Given the description of an element on the screen output the (x, y) to click on. 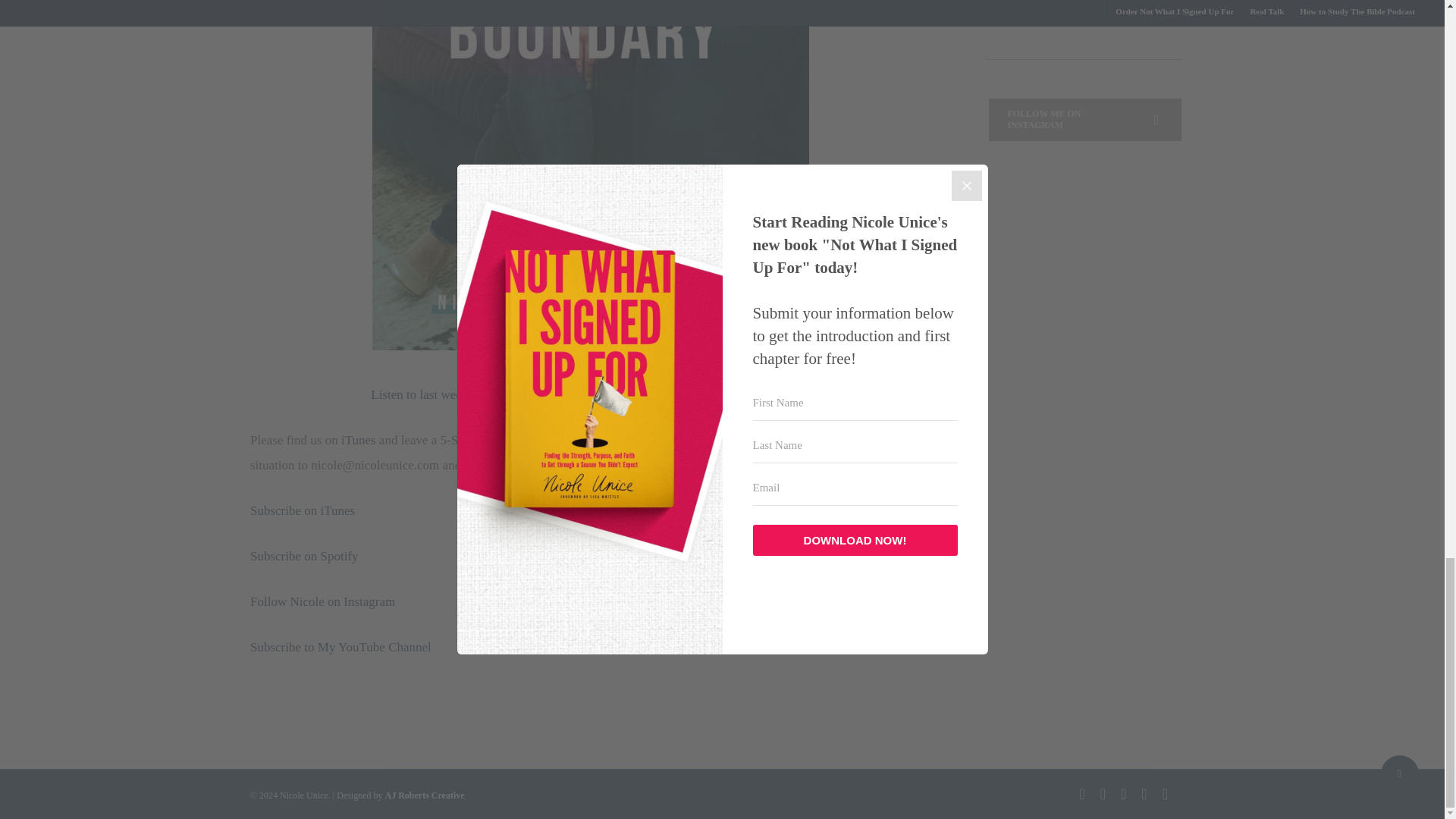
Subscribe to My YouTube Channel (340, 646)
Subscribe on Spotify (304, 555)
Subscribe on iTunes (302, 510)
iTunes (357, 440)
FOLLOW ME ON INSTAGRAM (1084, 119)
Follow Nicole on Instagram  (323, 601)
